Given the description of an element on the screen output the (x, y) to click on. 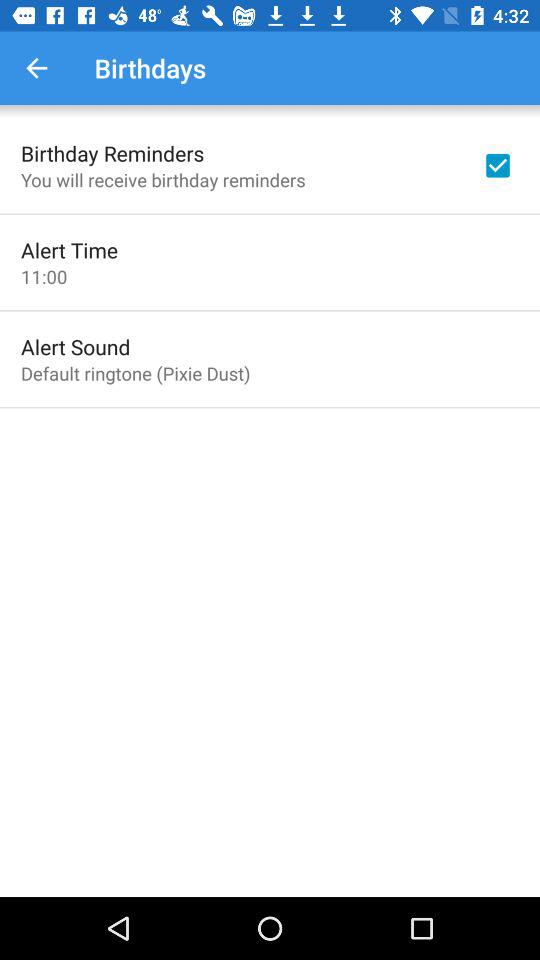
scroll until alert sound item (75, 346)
